Given the description of an element on the screen output the (x, y) to click on. 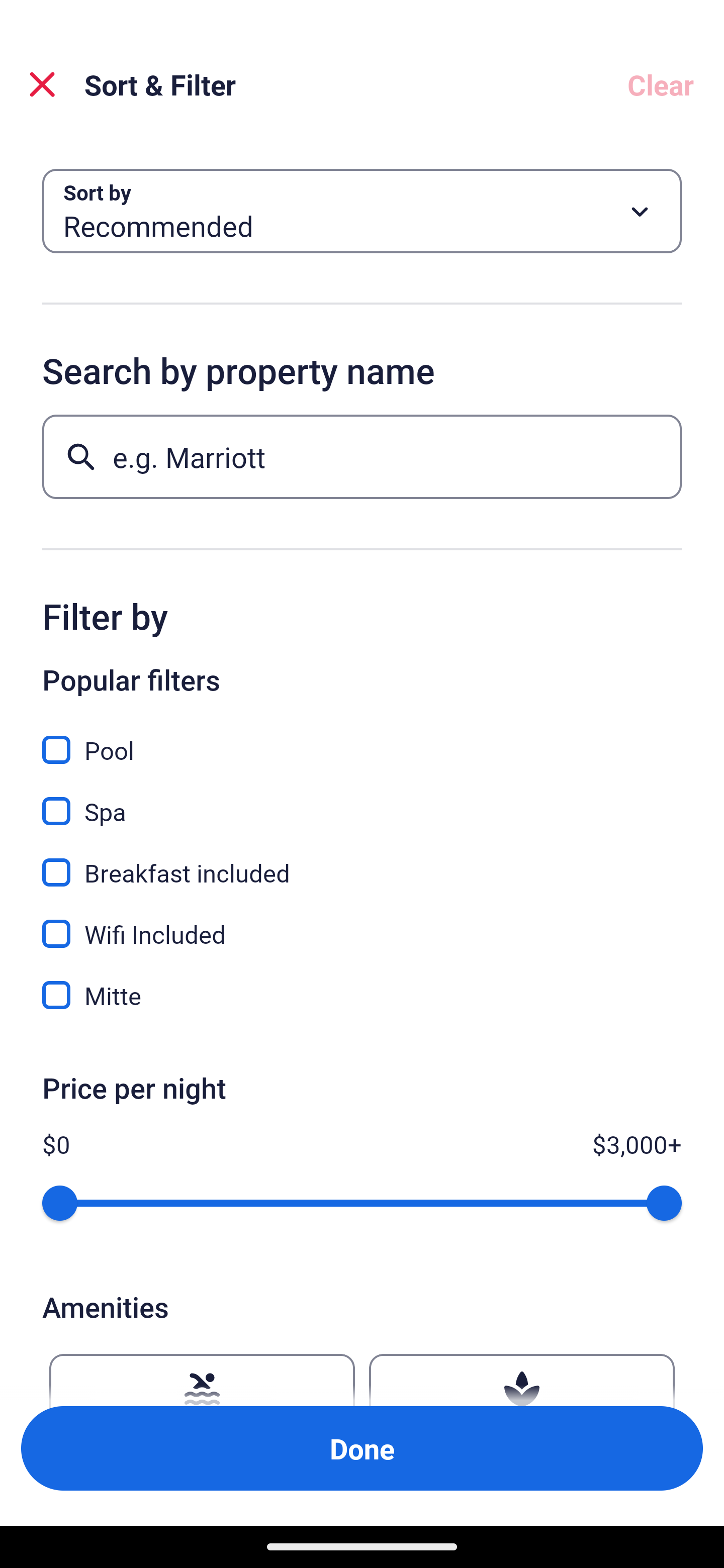
Close Sort and Filter (42, 84)
Clear (660, 84)
Sort by Button Recommended (361, 211)
e.g. Marriott Button (361, 455)
Pool, Pool (361, 738)
Spa, Spa (361, 800)
Breakfast included, Breakfast included (361, 861)
Wifi Included, Wifi Included (361, 922)
Mitte, Mitte (361, 995)
Apply and close Sort and Filter Done (361, 1448)
